Given the description of an element on the screen output the (x, y) to click on. 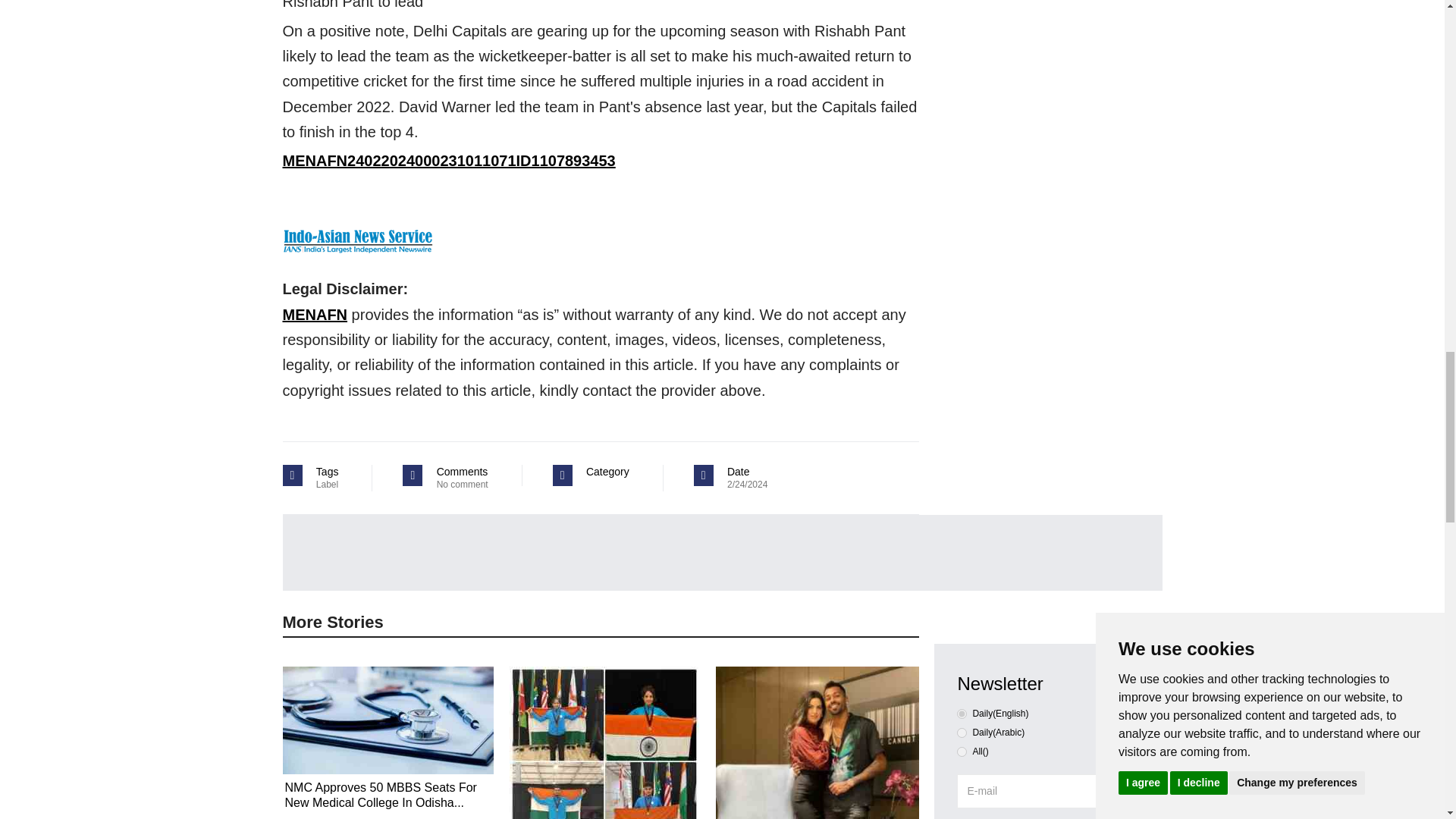
1 (961, 732)
0 (961, 714)
2 (961, 751)
